Given the description of an element on the screen output the (x, y) to click on. 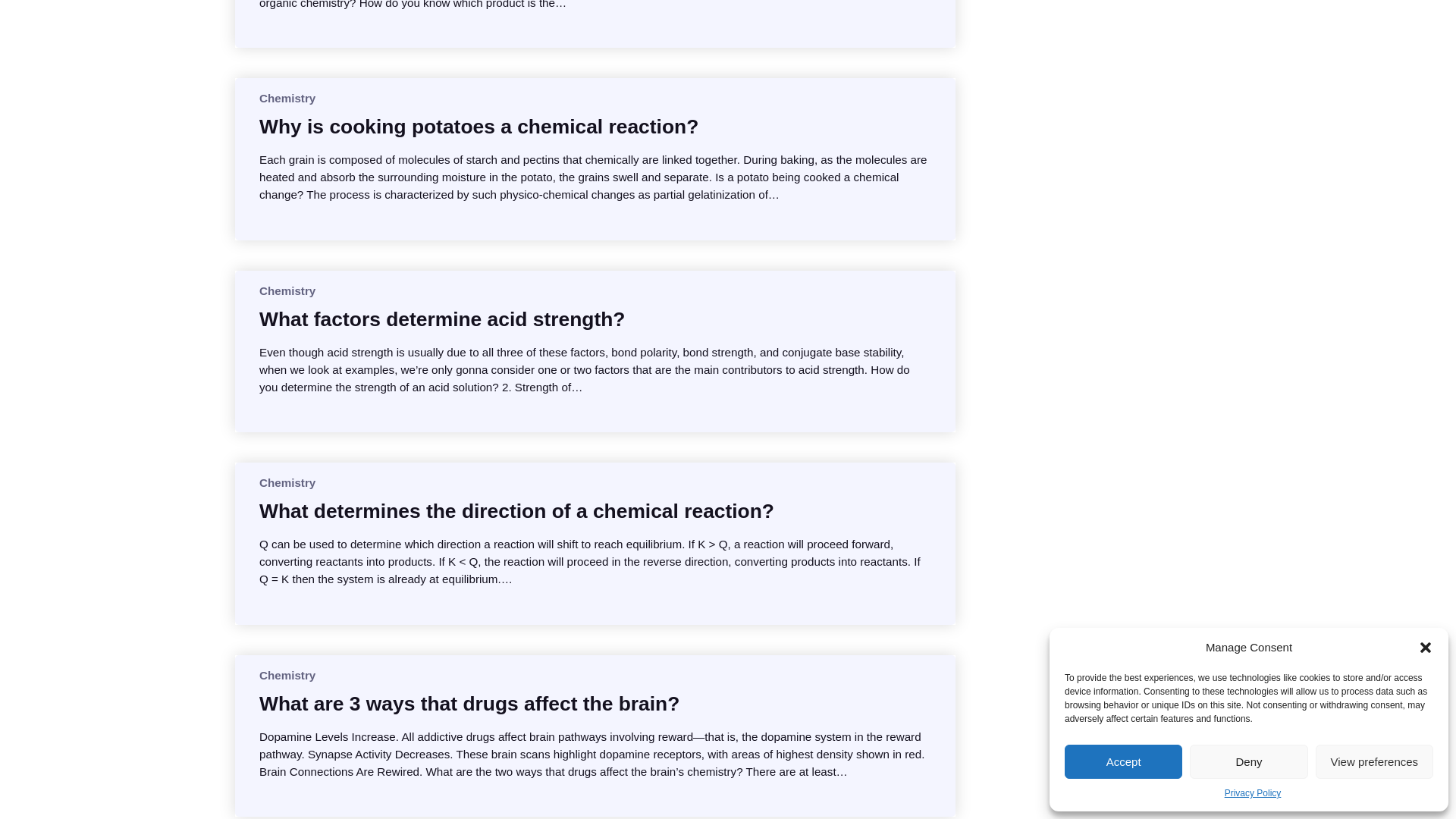
Chemistry (287, 97)
